Given the description of an element on the screen output the (x, y) to click on. 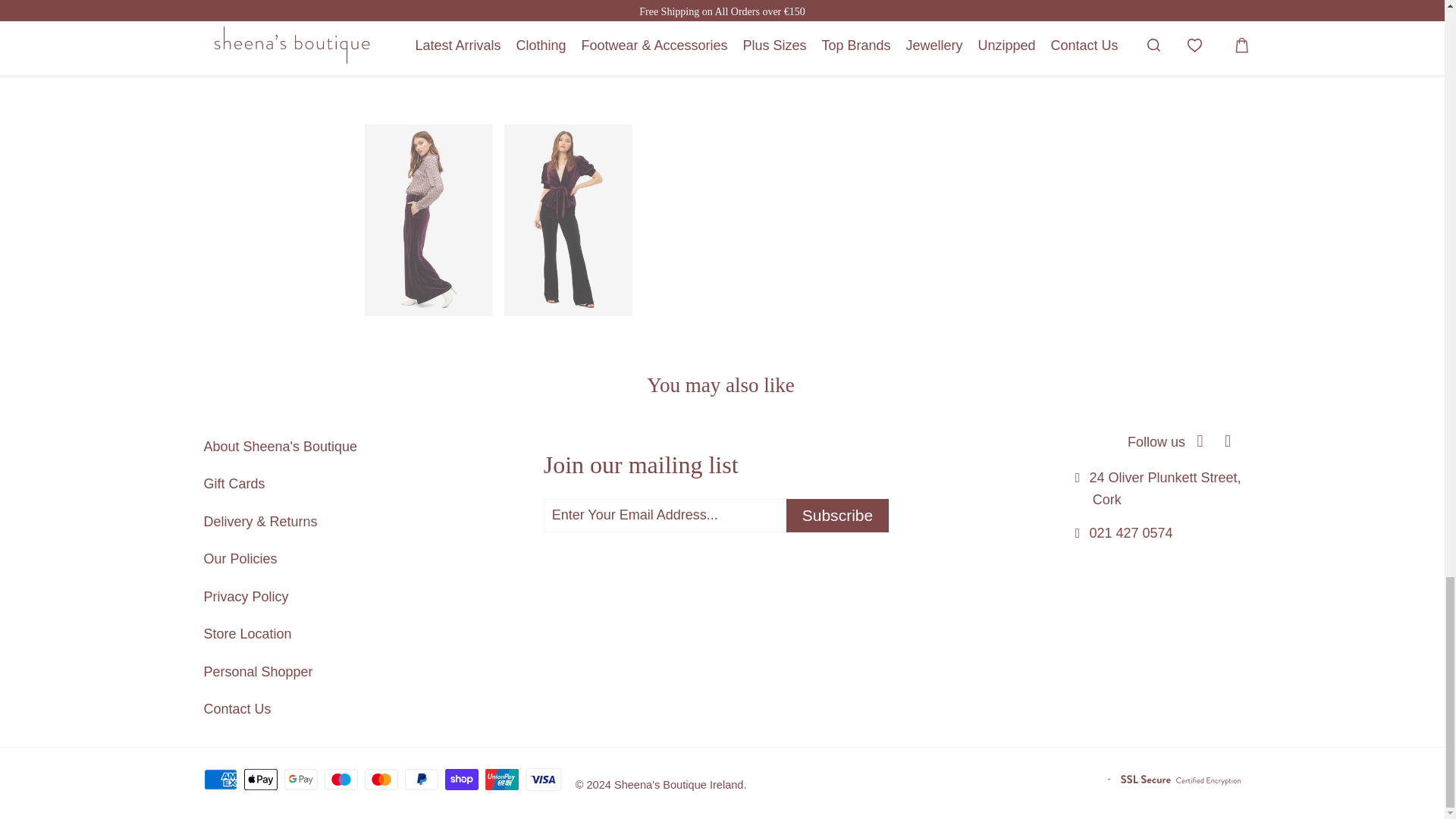
Maestro (342, 779)
Apple Pay (262, 779)
Subscribe (837, 515)
Mastercard (383, 779)
PayPal (422, 779)
Union Pay (502, 779)
tel:021 427 0574 (1130, 532)
Sheena's Boutique Ireland on Facebook (1200, 441)
Google Pay (301, 779)
Shop Pay (463, 779)
Visa (543, 779)
Sheena's Boutique Ireland on Instagram (1228, 441)
American Express (221, 779)
